Given the description of an element on the screen output the (x, y) to click on. 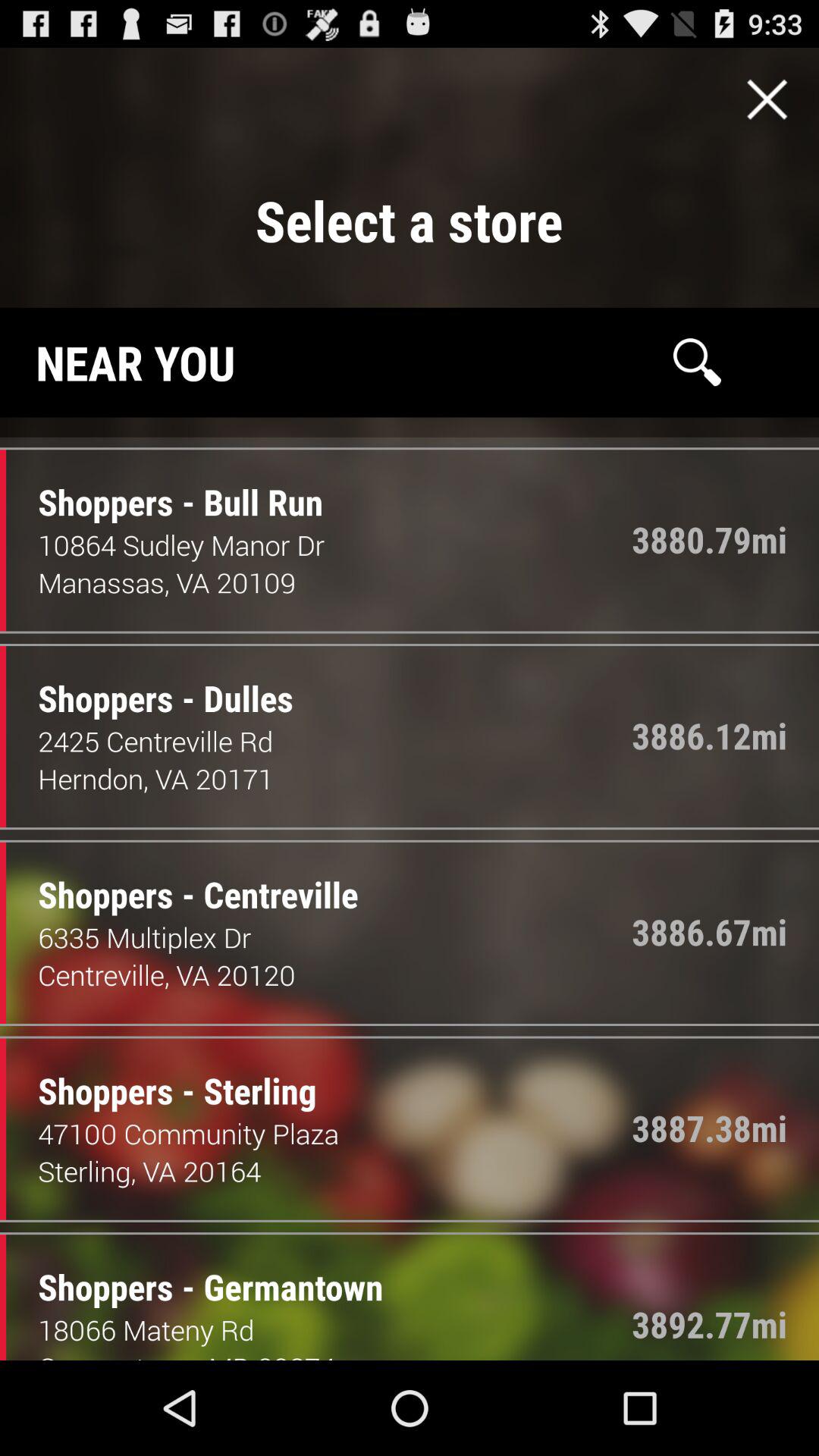
search for store (697, 362)
